Given the description of an element on the screen output the (x, y) to click on. 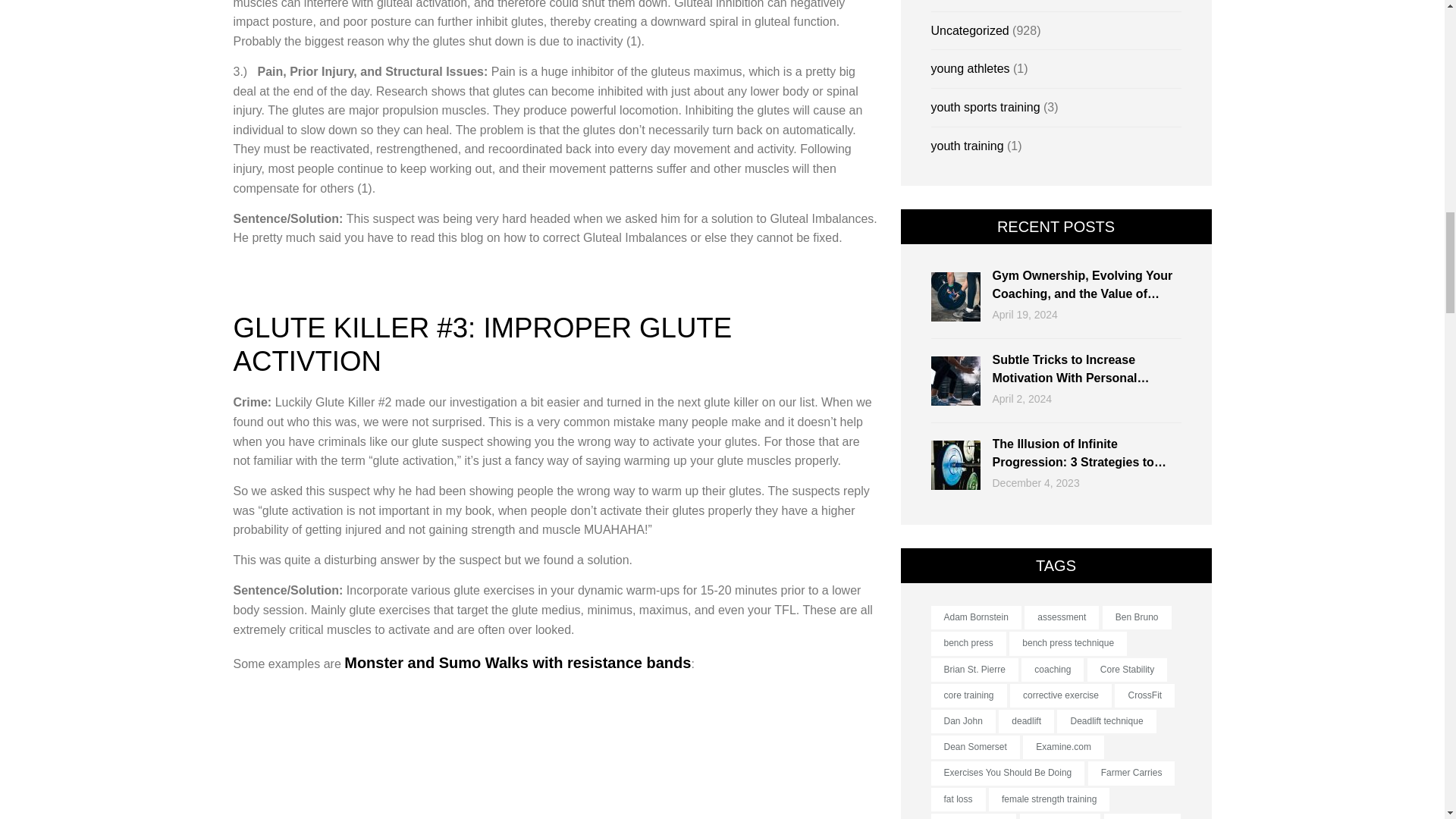
How to do Monster Walks (554, 752)
